Given the description of an element on the screen output the (x, y) to click on. 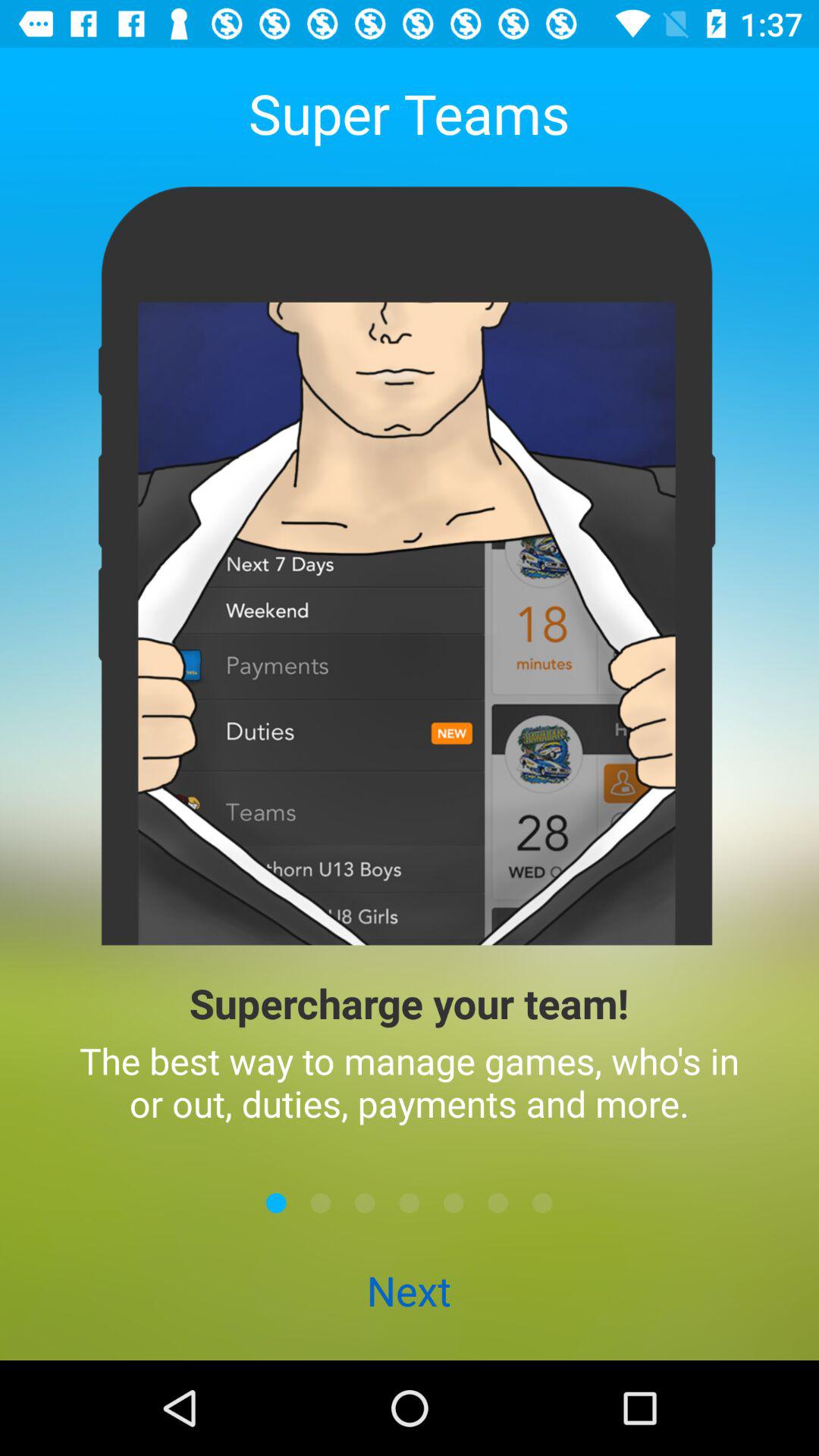
choose icon below the the best way icon (276, 1203)
